Given the description of an element on the screen output the (x, y) to click on. 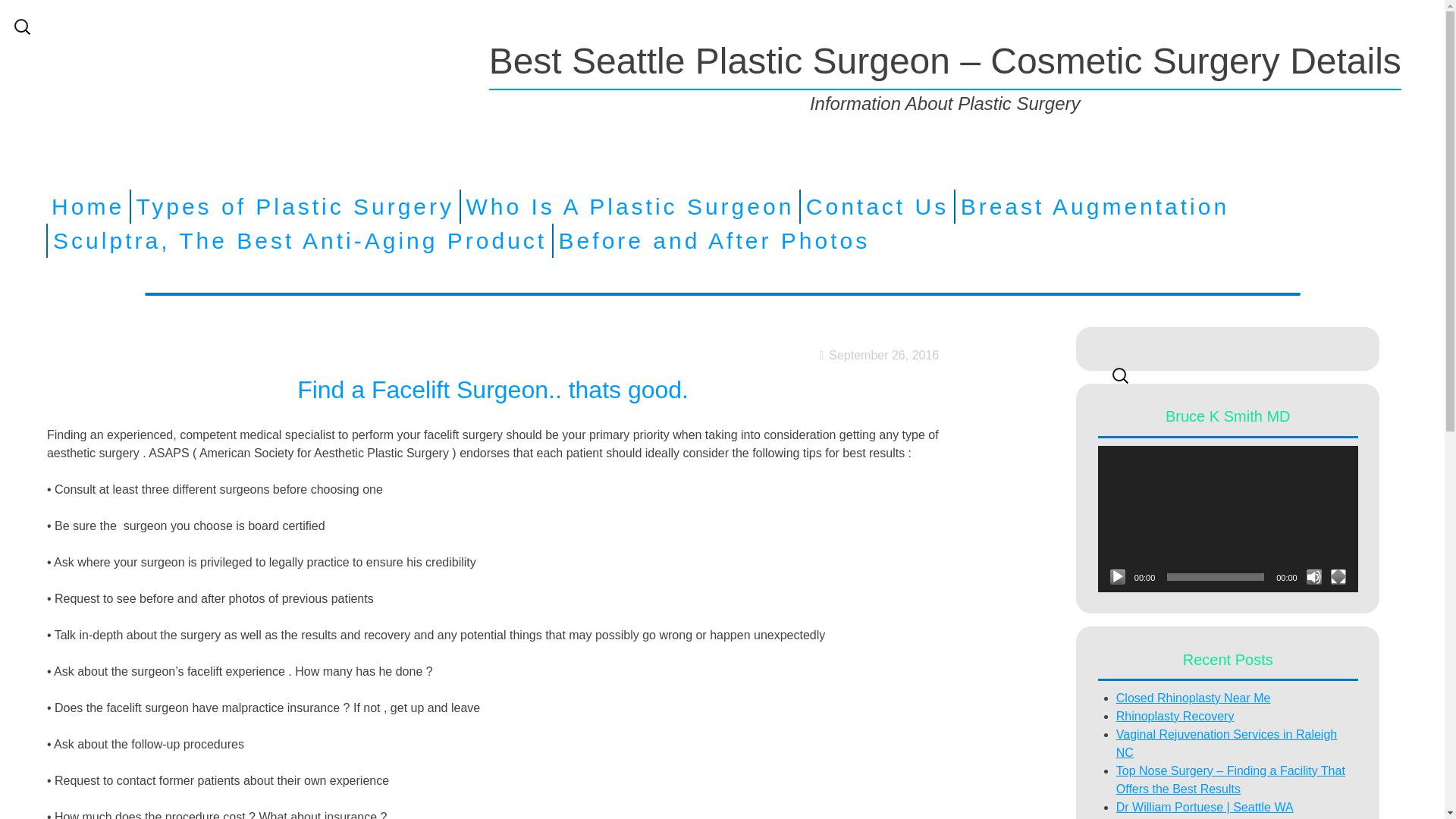
Fullscreen (1337, 576)
Play (1117, 576)
Search (24, 9)
Home (86, 206)
Mute (1314, 576)
Sculptra, The Best Anti-Aging Product (299, 240)
Rhinoplasty Recovery (1175, 716)
Closed Rhinoplasty Near Me (1193, 697)
Before and After Photos (714, 240)
Who Is A Plastic Surgeon (629, 206)
Breast Augmentation (1095, 206)
Contact Us (877, 206)
Vaginal Rejuvenation Services in Raleigh NC (1226, 743)
Types of Plastic Surgery (295, 206)
